Given the description of an element on the screen output the (x, y) to click on. 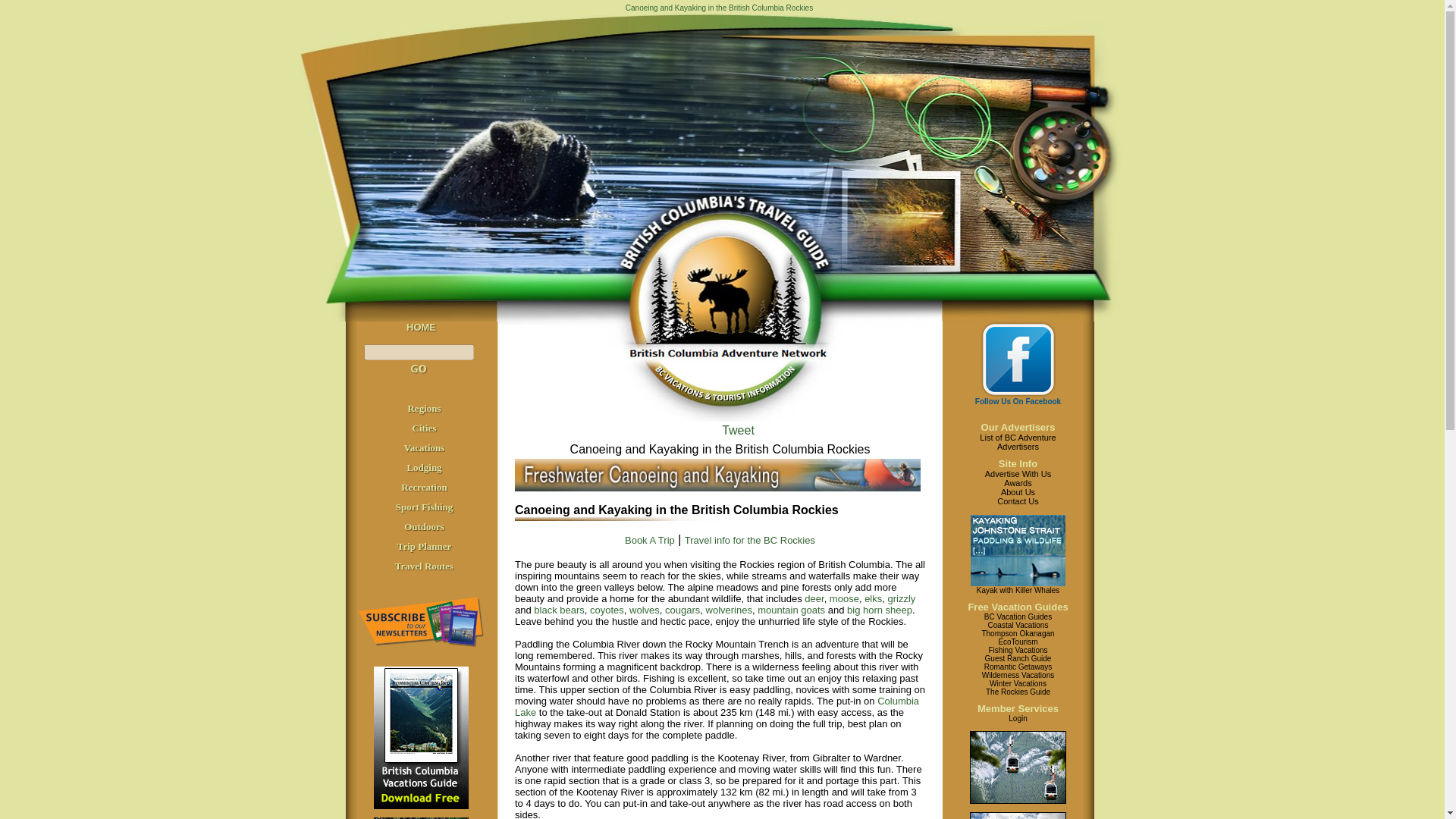
Lodging (423, 467)
Recreation (423, 487)
HOME (420, 326)
Search (418, 369)
Cities (424, 428)
Vacations (424, 447)
Regions (424, 408)
